Given the description of an element on the screen output the (x, y) to click on. 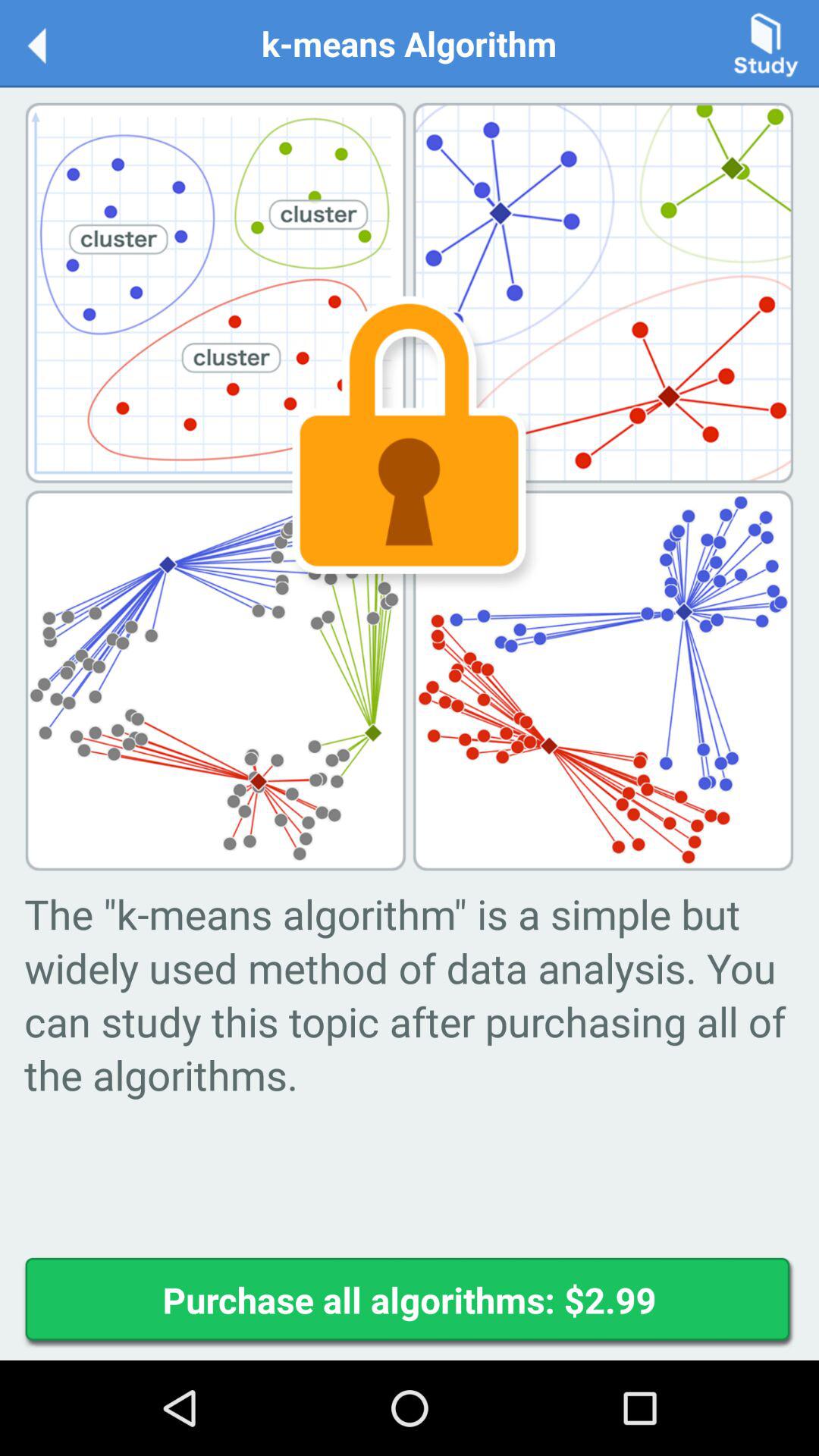
study the algorithm (766, 42)
